Given the description of an element on the screen output the (x, y) to click on. 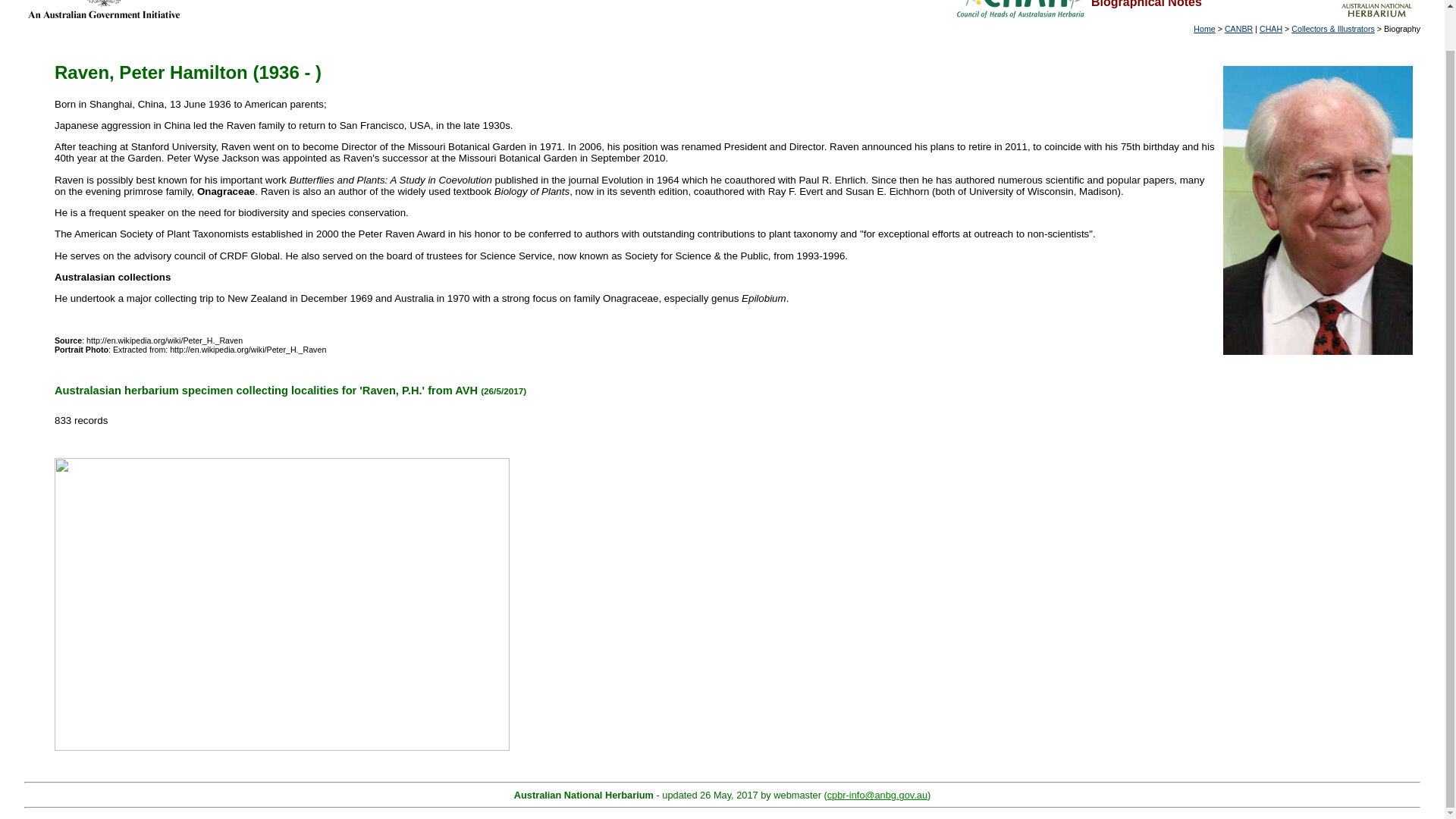
Home (1203, 28)
CANBR (1238, 28)
CHAH (1270, 28)
